Given the description of an element on the screen output the (x, y) to click on. 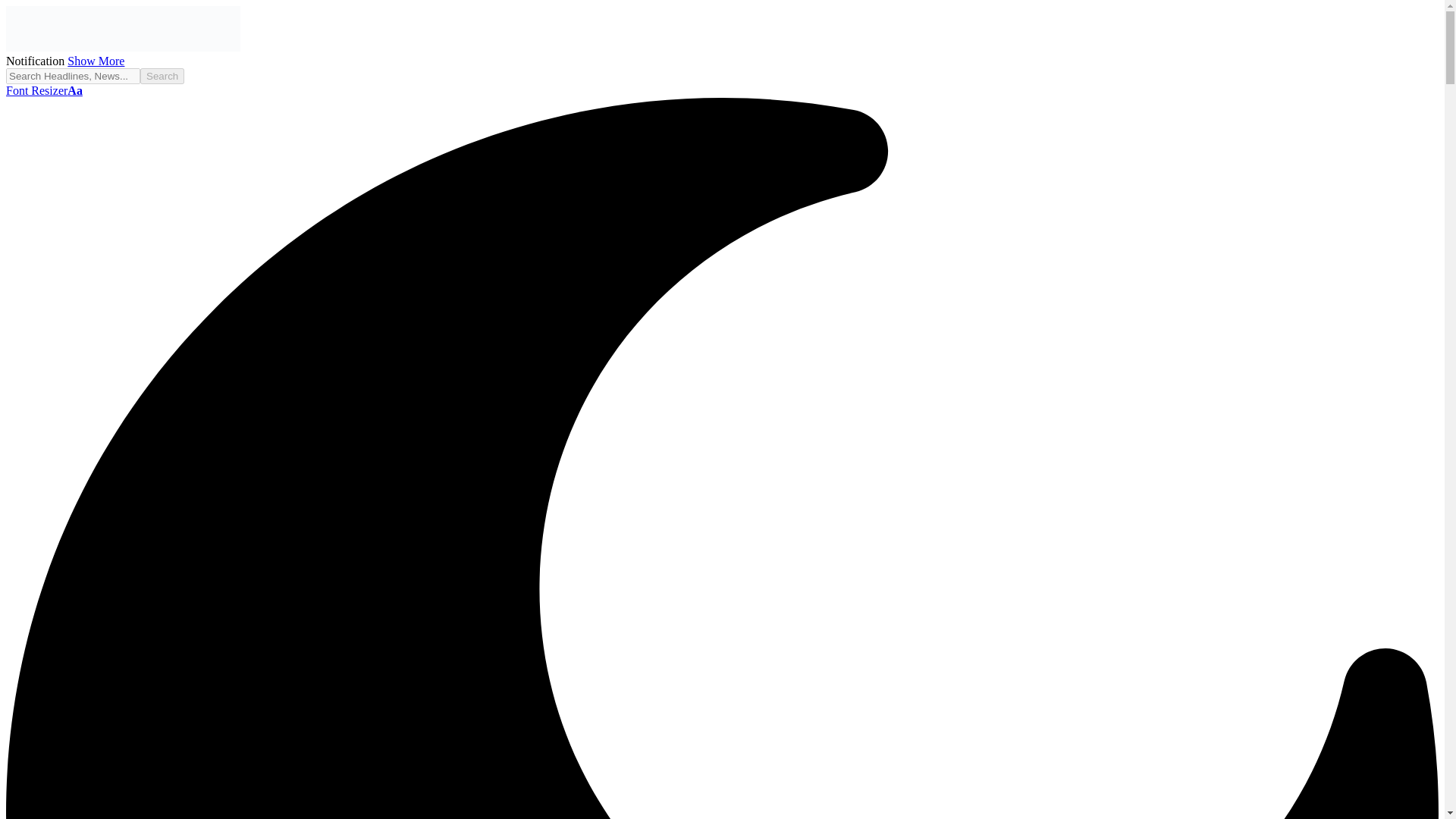
Font ResizerAa (43, 90)
TownFlex (122, 47)
Show More (94, 60)
Search (161, 75)
Search (161, 75)
